Given the description of an element on the screen output the (x, y) to click on. 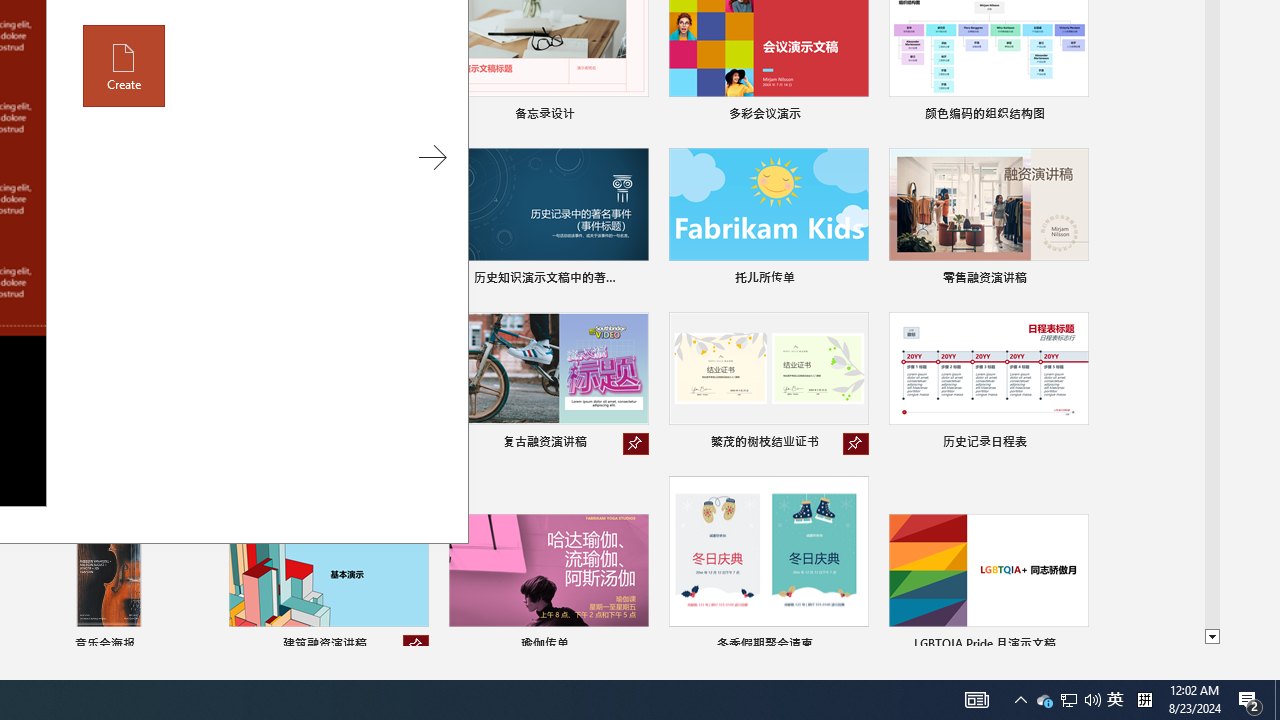
Next Template (432, 157)
Pin to list (1075, 645)
Create (124, 66)
Line down (1212, 637)
